Given the description of an element on the screen output the (x, y) to click on. 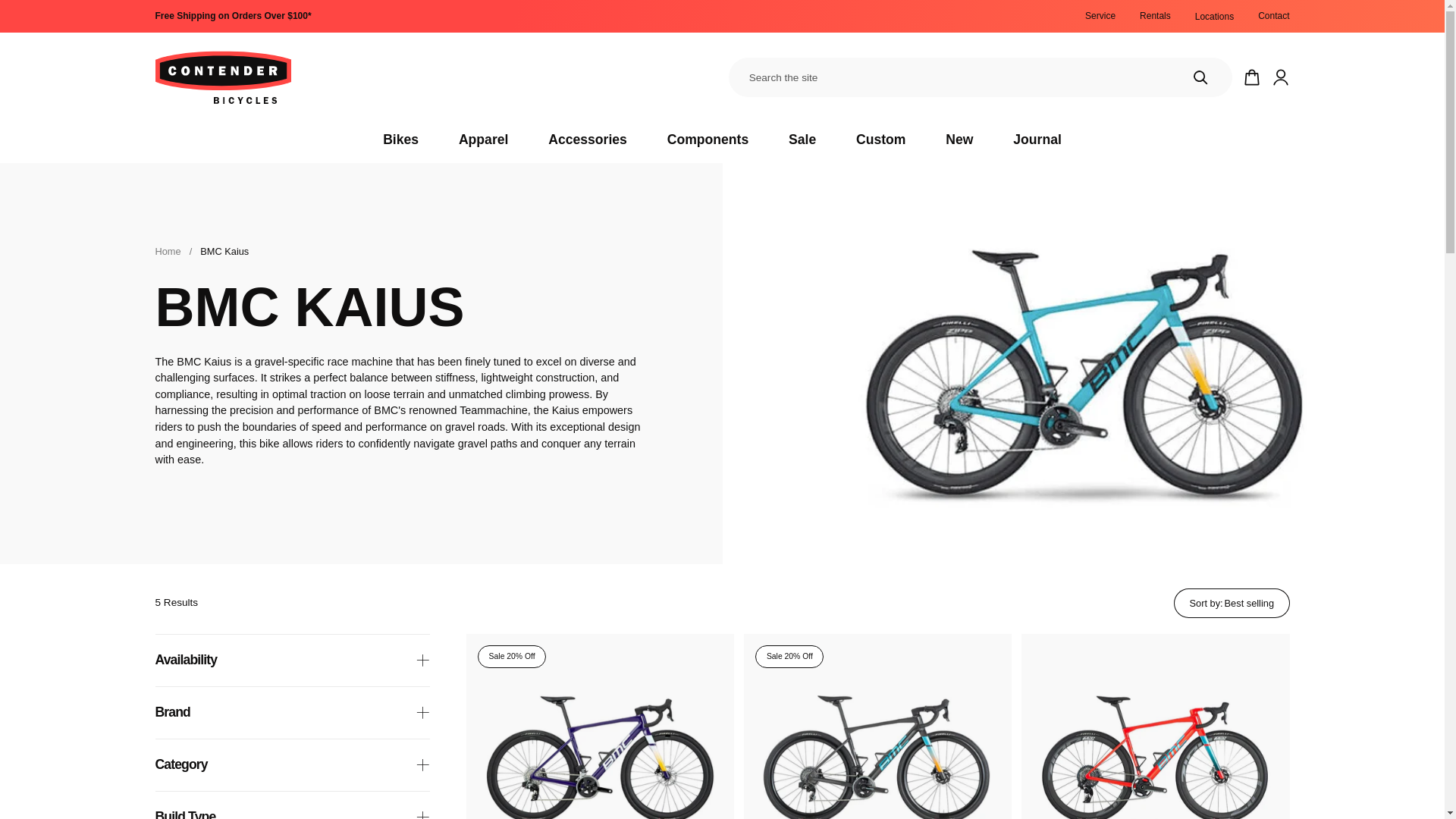
Home (167, 251)
Service (1099, 15)
SHIPPING (232, 15)
SKIP TO CONTENT (31, 18)
SEARCH (1200, 77)
Contact (1272, 15)
Bikes (400, 139)
Locations (1214, 16)
Rentals (1155, 15)
